Given the description of an element on the screen output the (x, y) to click on. 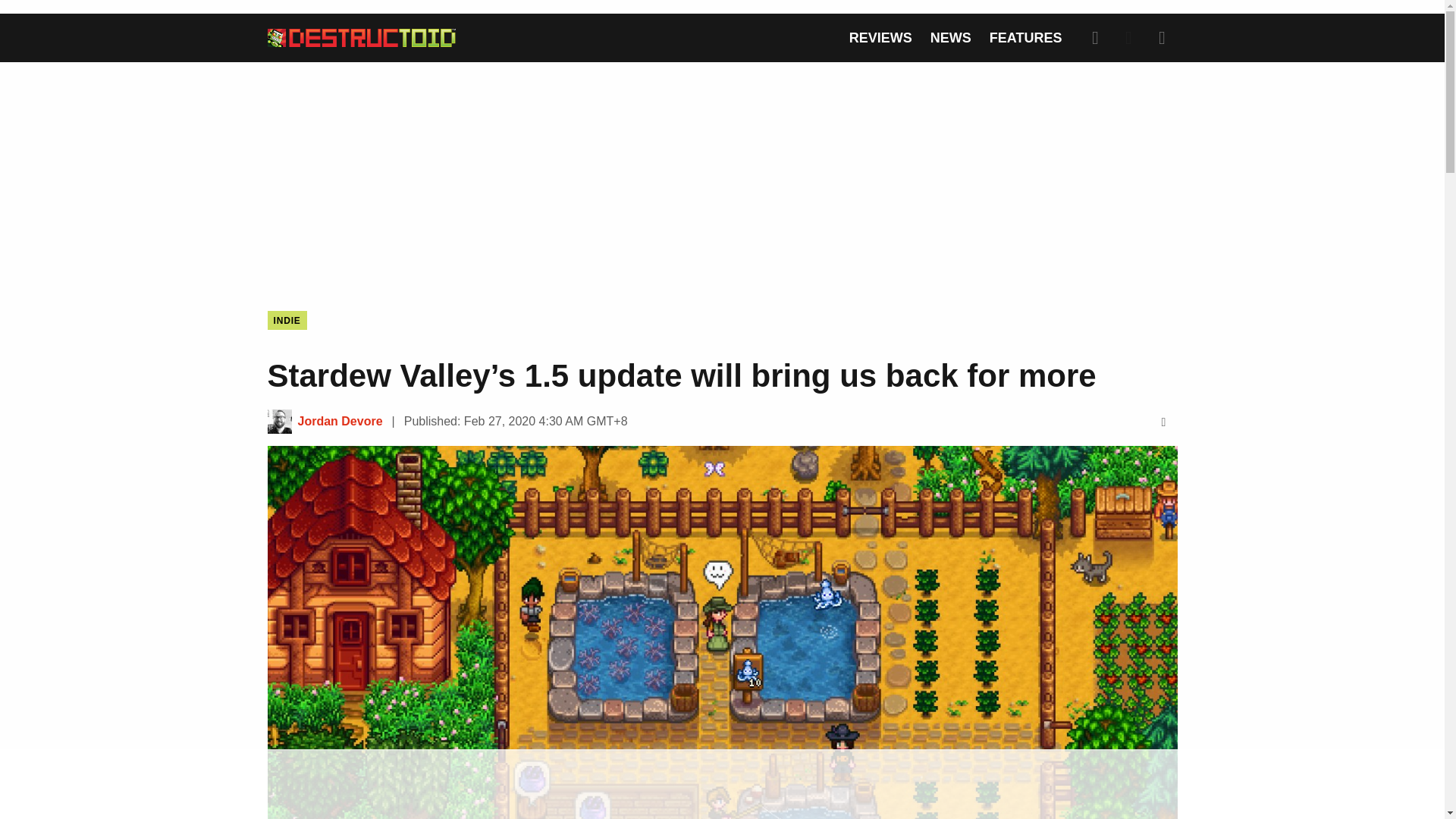
FEATURES (1026, 37)
Dark Mode (1127, 37)
3rd party ad content (721, 785)
Expand Menu (1161, 37)
INDIE (285, 320)
3rd party ad content (721, 174)
REVIEWS (880, 37)
Search (1094, 37)
NEWS (950, 37)
